Given the description of an element on the screen output the (x, y) to click on. 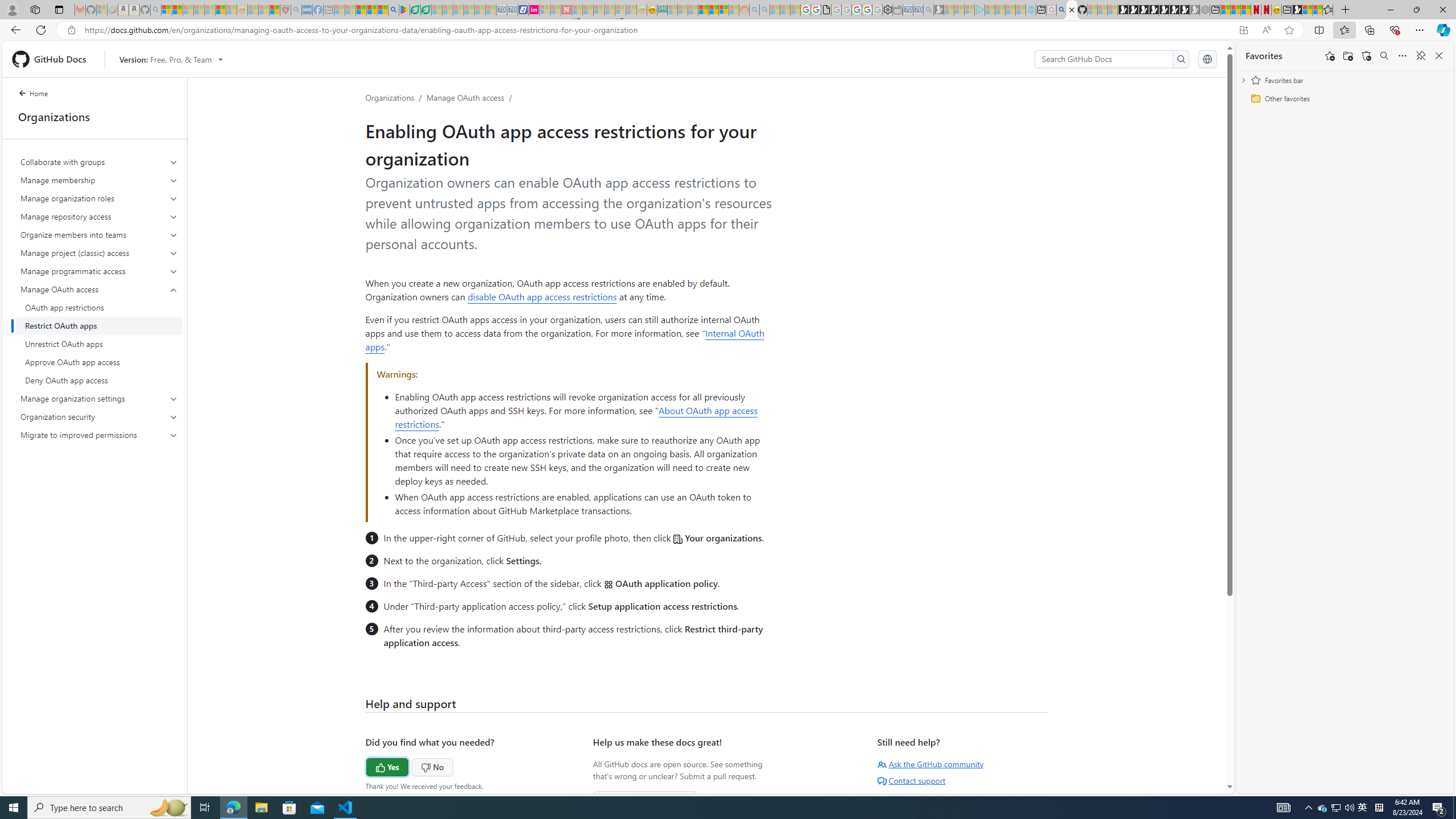
Add folder (1347, 55)
Unrestrict OAuth apps (99, 343)
Manage OAuth access/ (471, 97)
Scroll to top (1200, 768)
Manage OAuth access (464, 97)
